Given the description of an element on the screen output the (x, y) to click on. 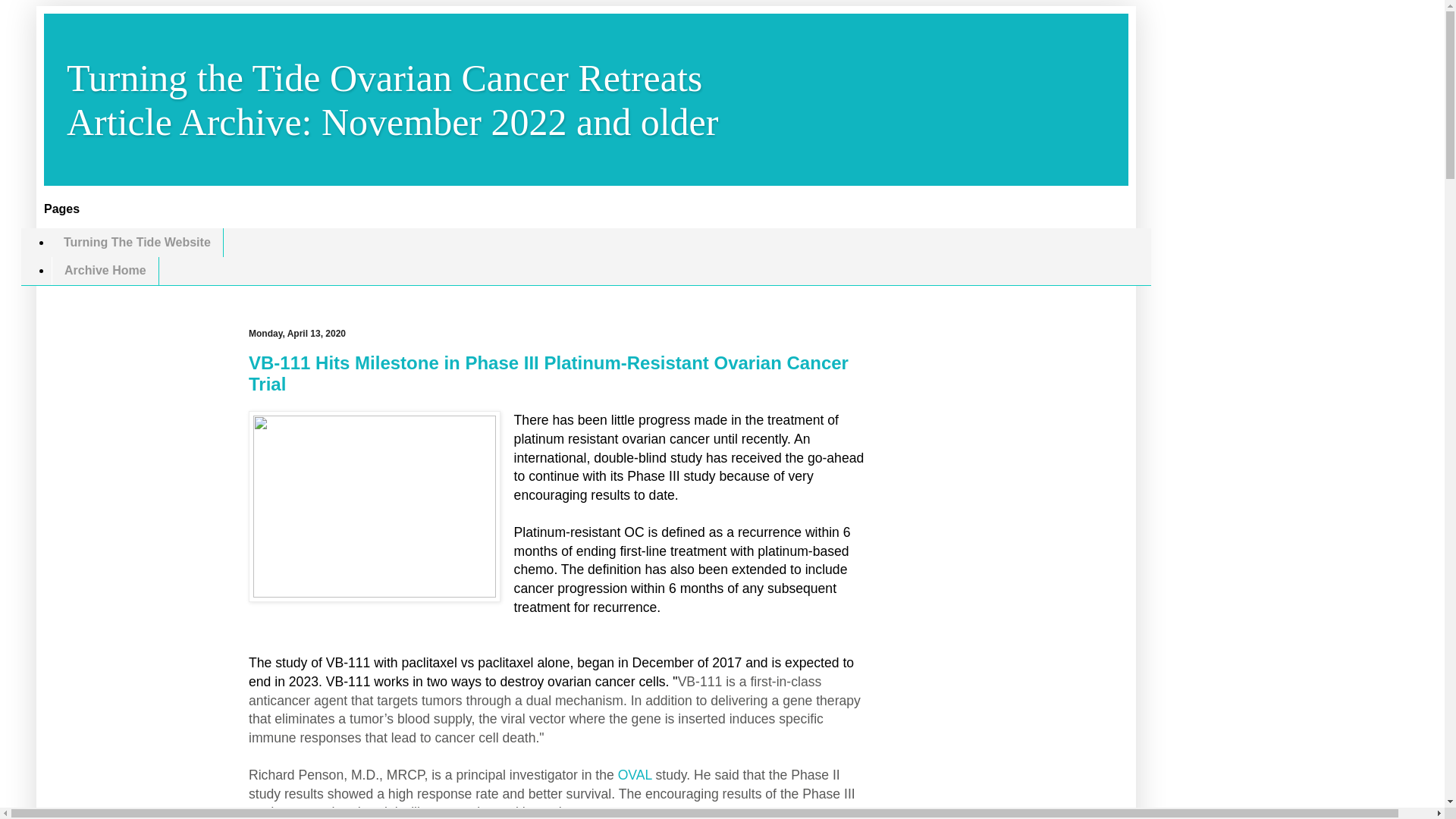
Archive Home (104, 271)
Turning The Tide Website (137, 242)
OVAL (634, 774)
